Given the description of an element on the screen output the (x, y) to click on. 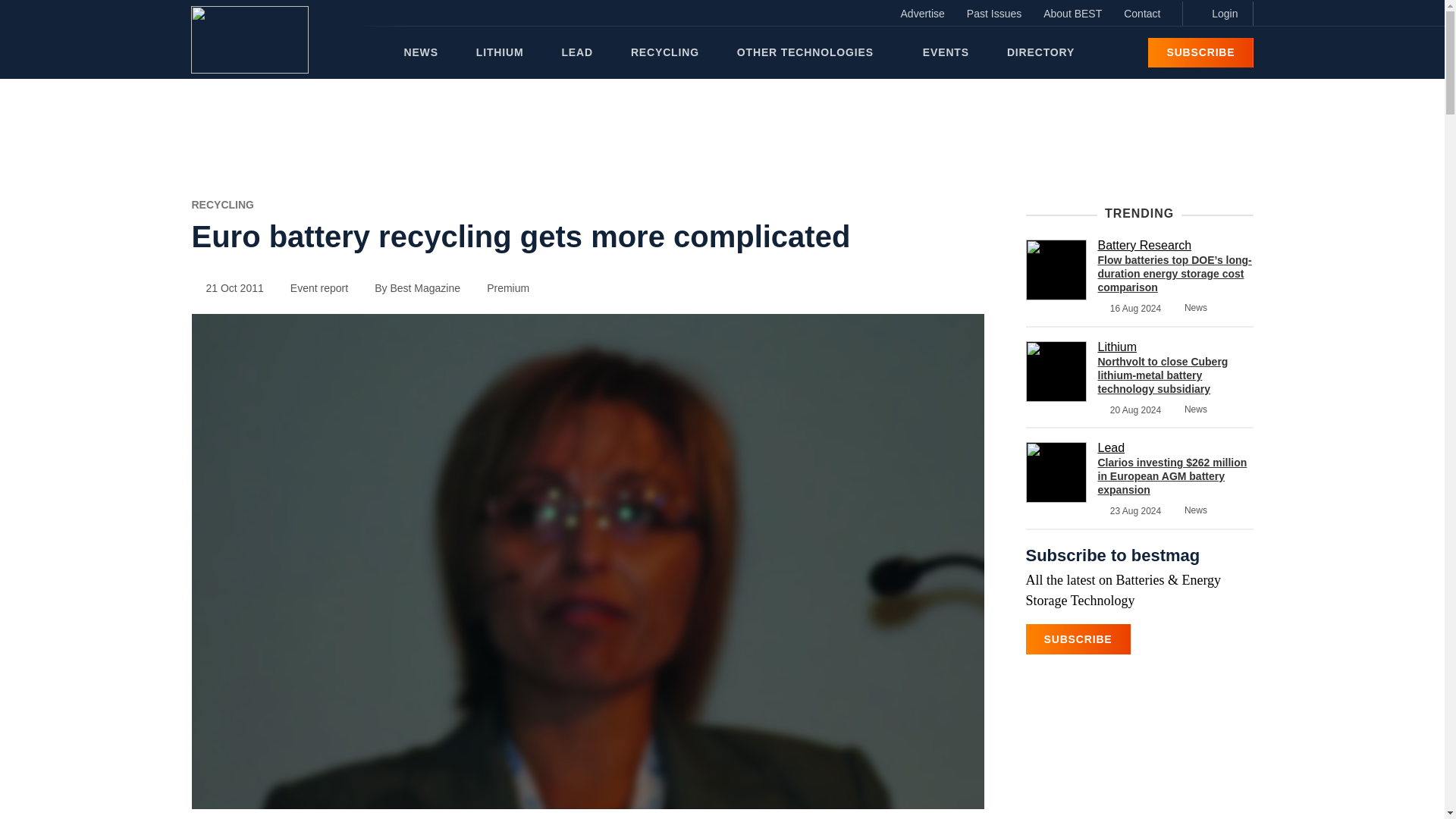
SUBSCRIBE (1200, 52)
NEWS (420, 52)
Login (1217, 13)
EVENTS (945, 52)
DIRECTORY (1039, 52)
RECYCLING (221, 204)
Event report (311, 287)
LITHIUM (499, 52)
About BEST (1072, 13)
Advertise (922, 13)
